Given the description of an element on the screen output the (x, y) to click on. 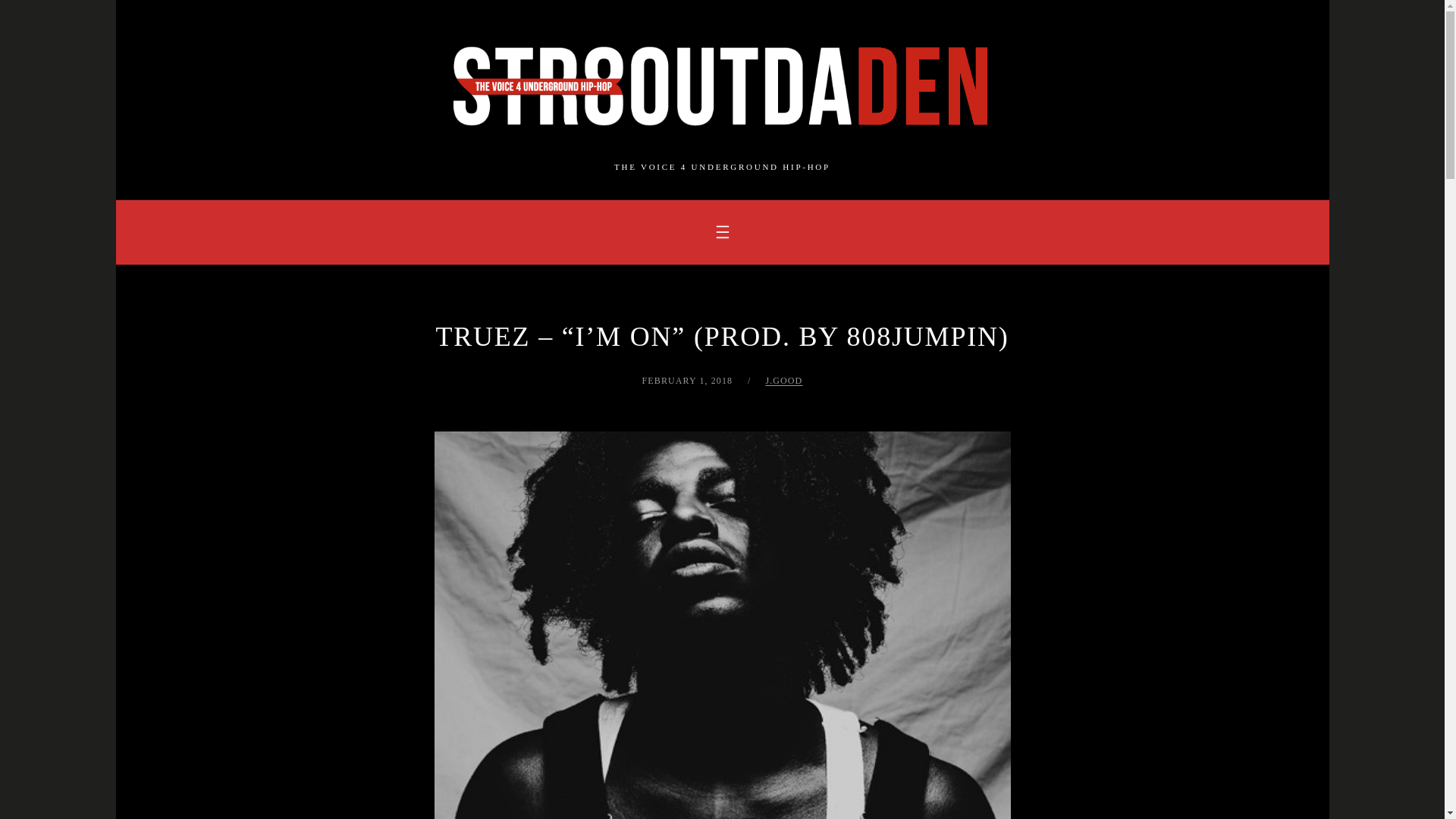
J.GOOD (783, 380)
